Given the description of an element on the screen output the (x, y) to click on. 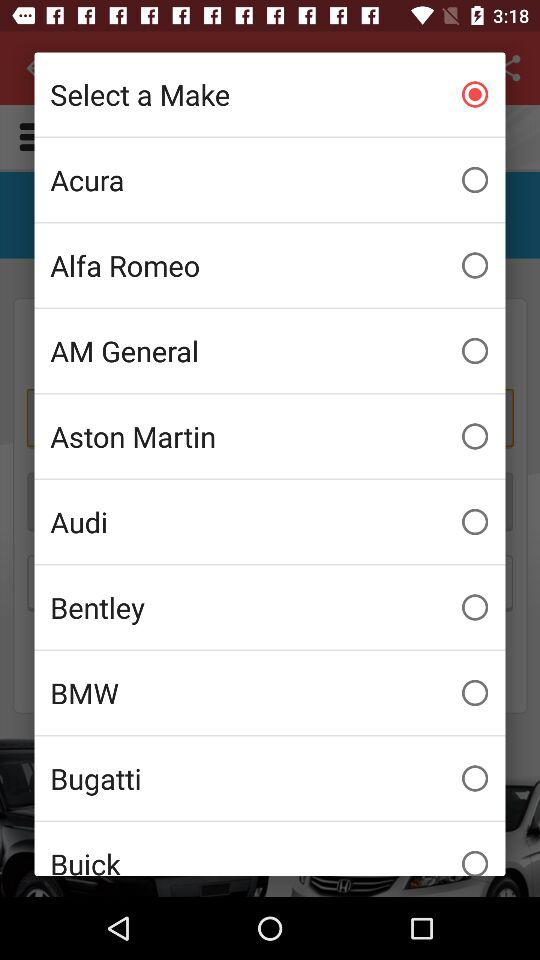
flip to bentley icon (269, 607)
